Given the description of an element on the screen output the (x, y) to click on. 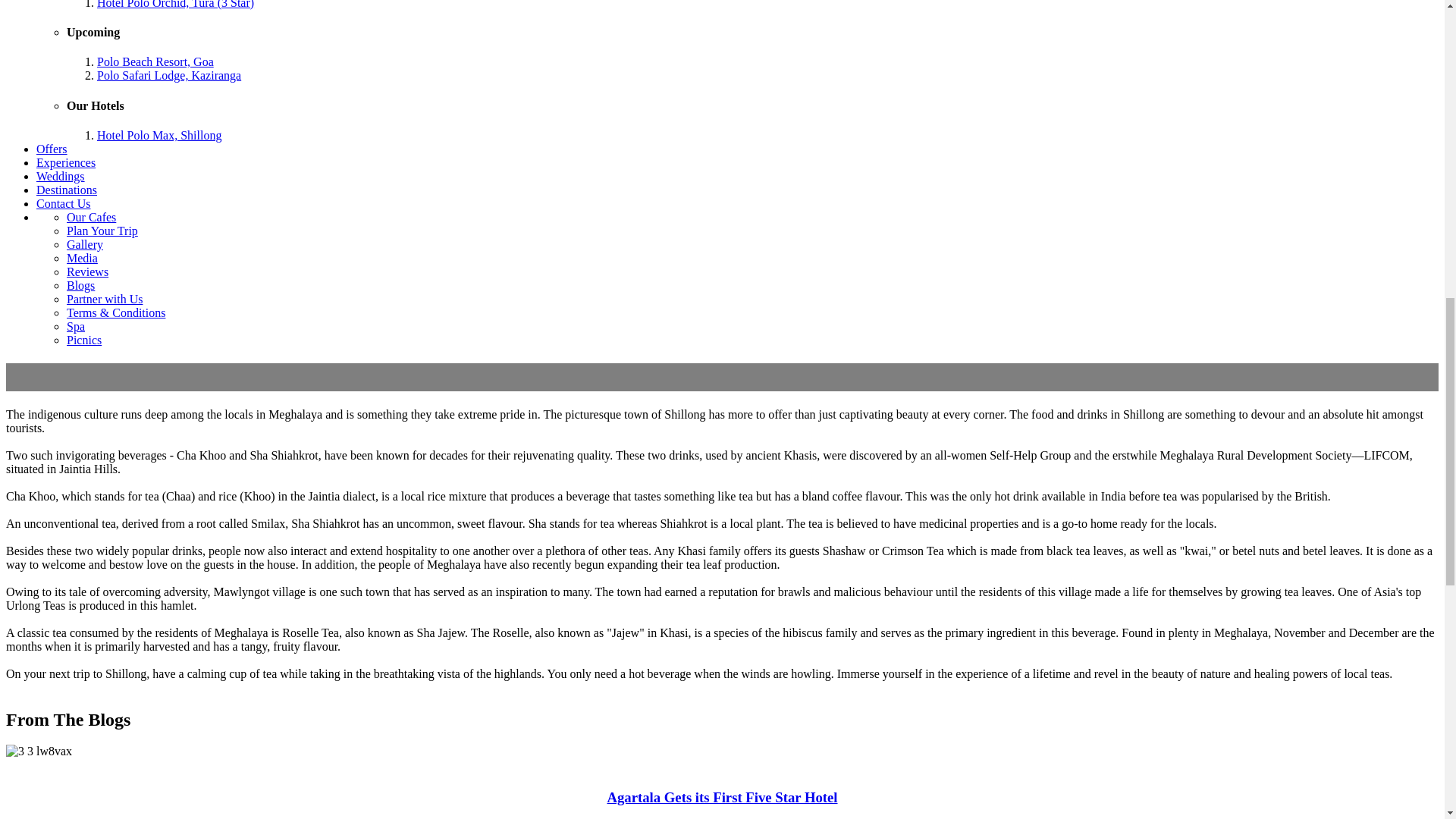
Polo Safari Lodge, Kaziranga (169, 74)
Our Cafes (91, 216)
Experiences (66, 162)
Partner with Us (104, 298)
Blogs (80, 285)
Offers (51, 148)
Media (81, 257)
Hotel Polo Max, Shillong (159, 134)
Spa (75, 326)
Polo Beach Resort, Goa (155, 61)
